Given the description of an element on the screen output the (x, y) to click on. 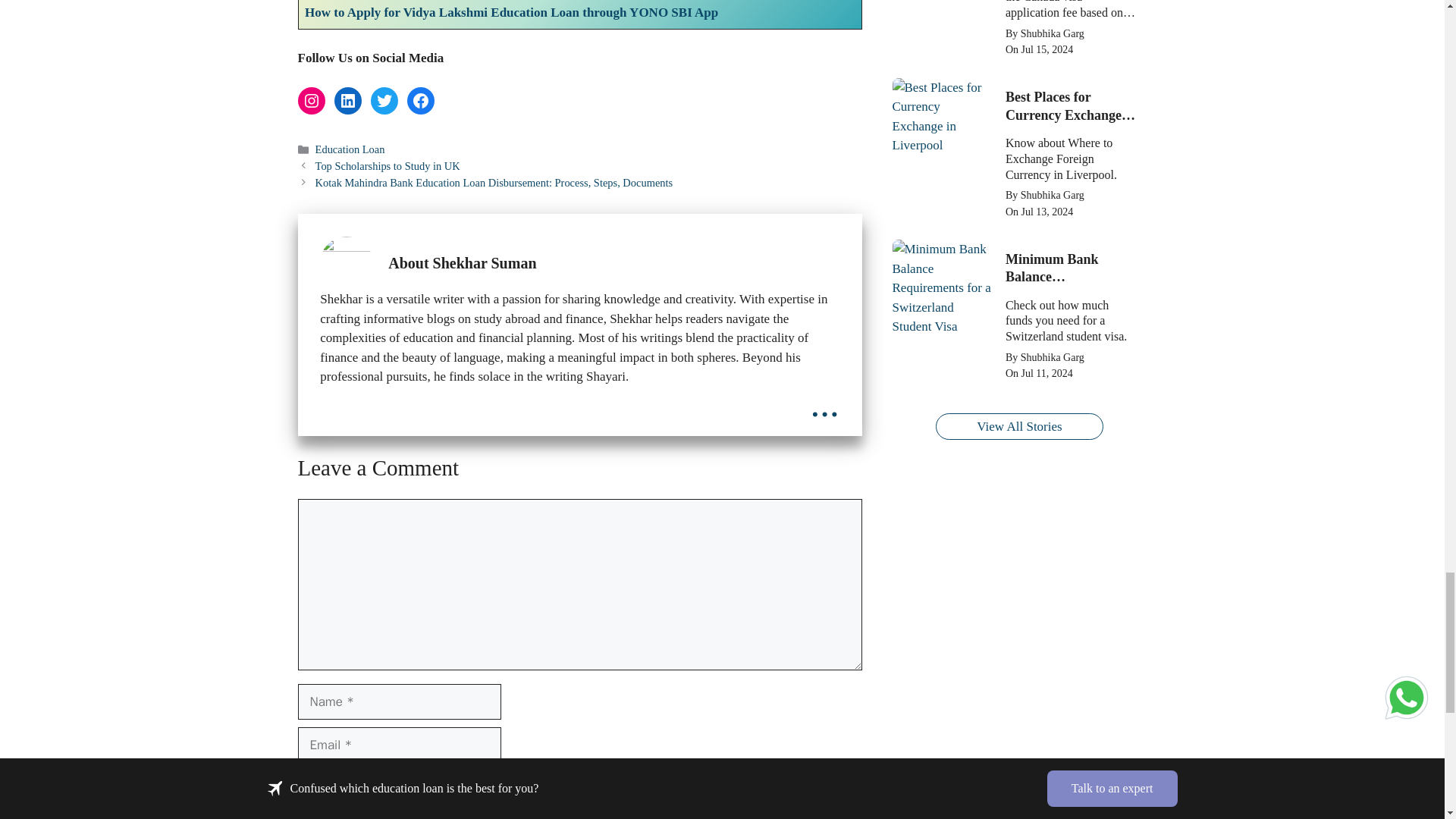
Read more (823, 403)
Instagram (310, 100)
Twitter (383, 100)
LinkedIn (347, 100)
